Given the description of an element on the screen output the (x, y) to click on. 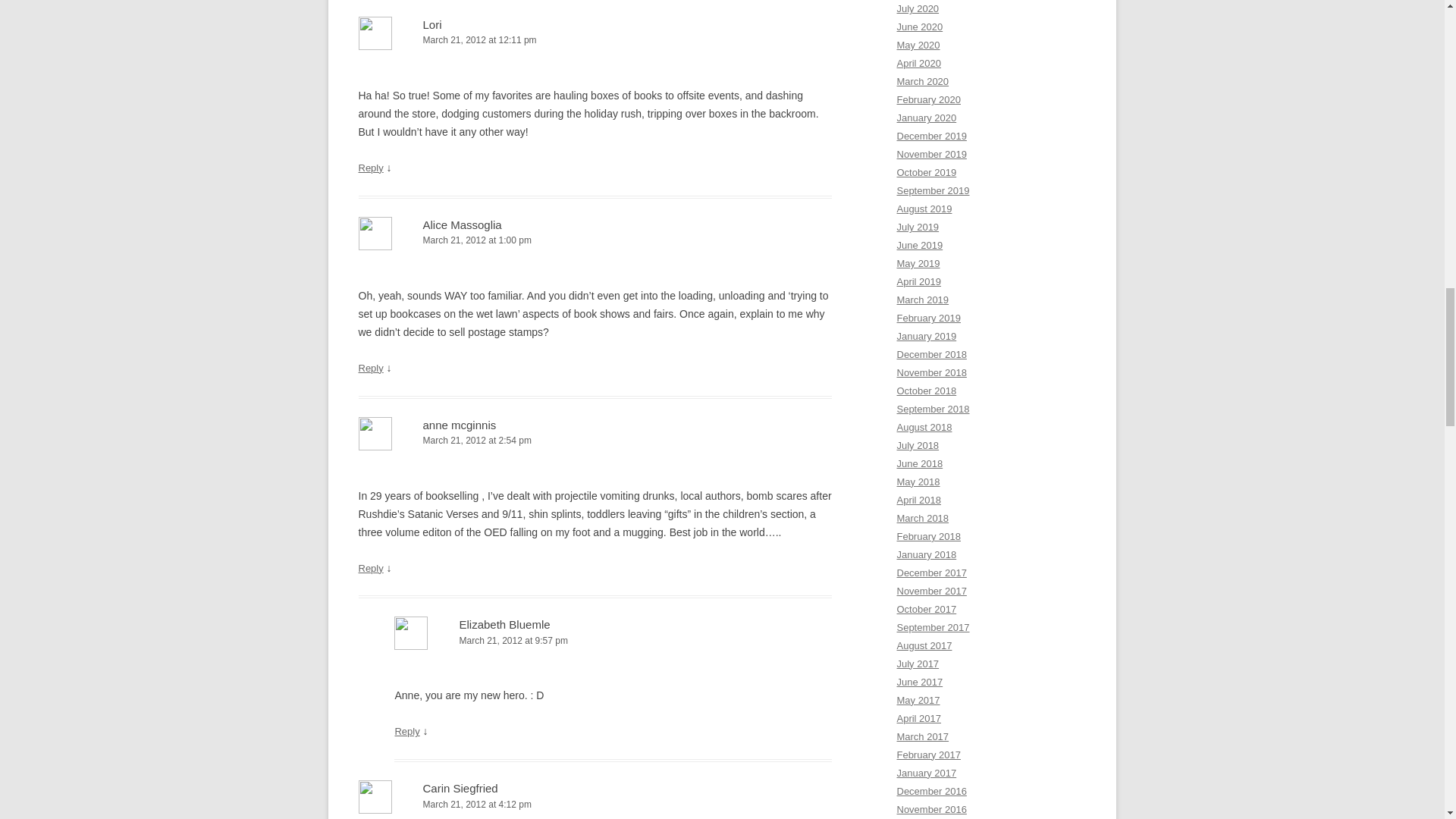
March 21, 2012 at 2:54 pm (594, 440)
Carin Siegfried (460, 788)
Reply (370, 167)
March 21, 2012 at 1:00 pm (594, 240)
Reply (370, 568)
March 21, 2012 at 12:11 pm (594, 40)
March 21, 2012 at 9:57 pm (612, 641)
Reply (406, 731)
Reply (370, 367)
March 21, 2012 at 4:12 pm (594, 804)
